Given the description of an element on the screen output the (x, y) to click on. 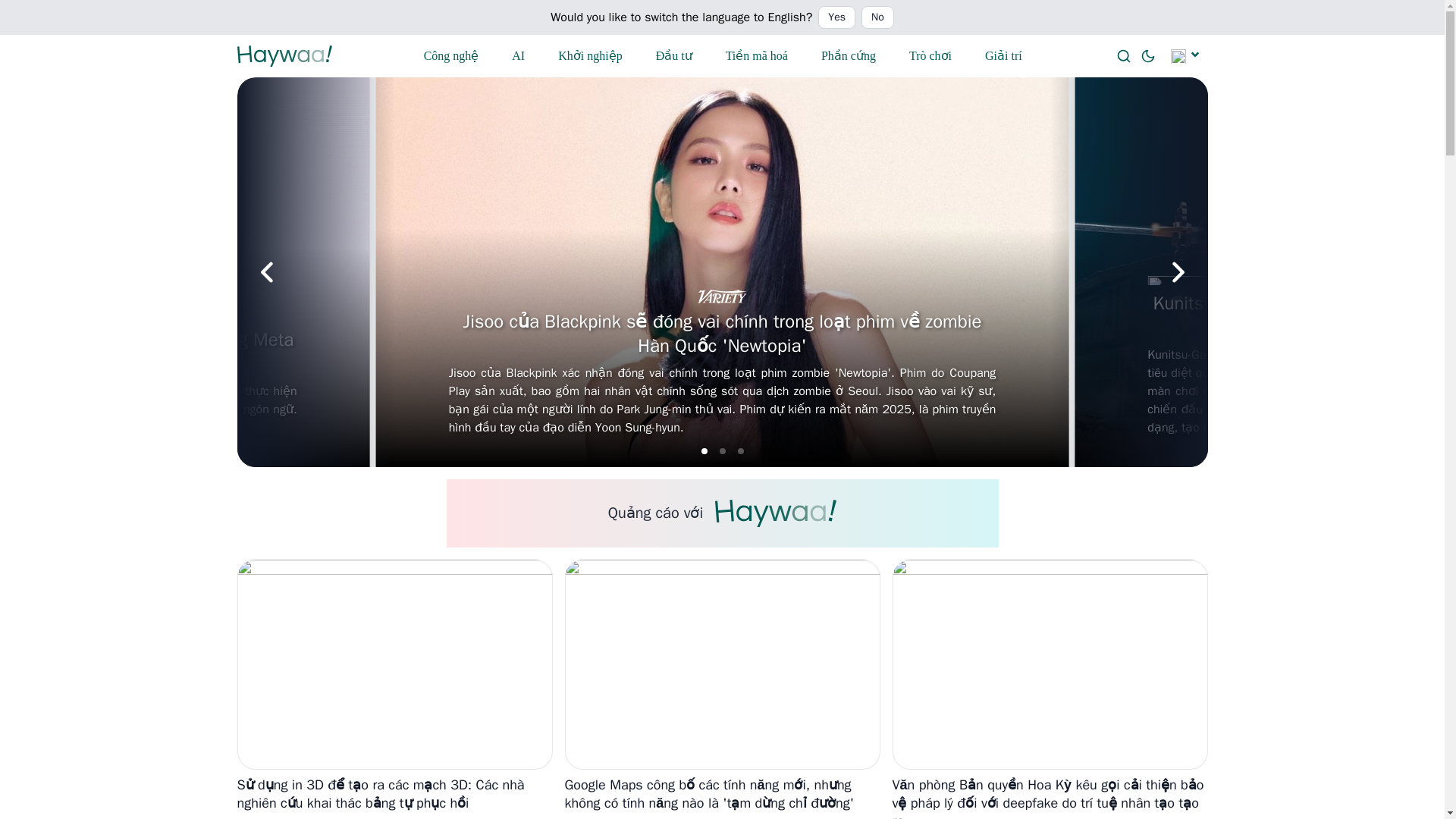
Yes (837, 16)
AI (519, 55)
No (877, 16)
Advertisement (721, 513)
AI (519, 55)
